Given the description of an element on the screen output the (x, y) to click on. 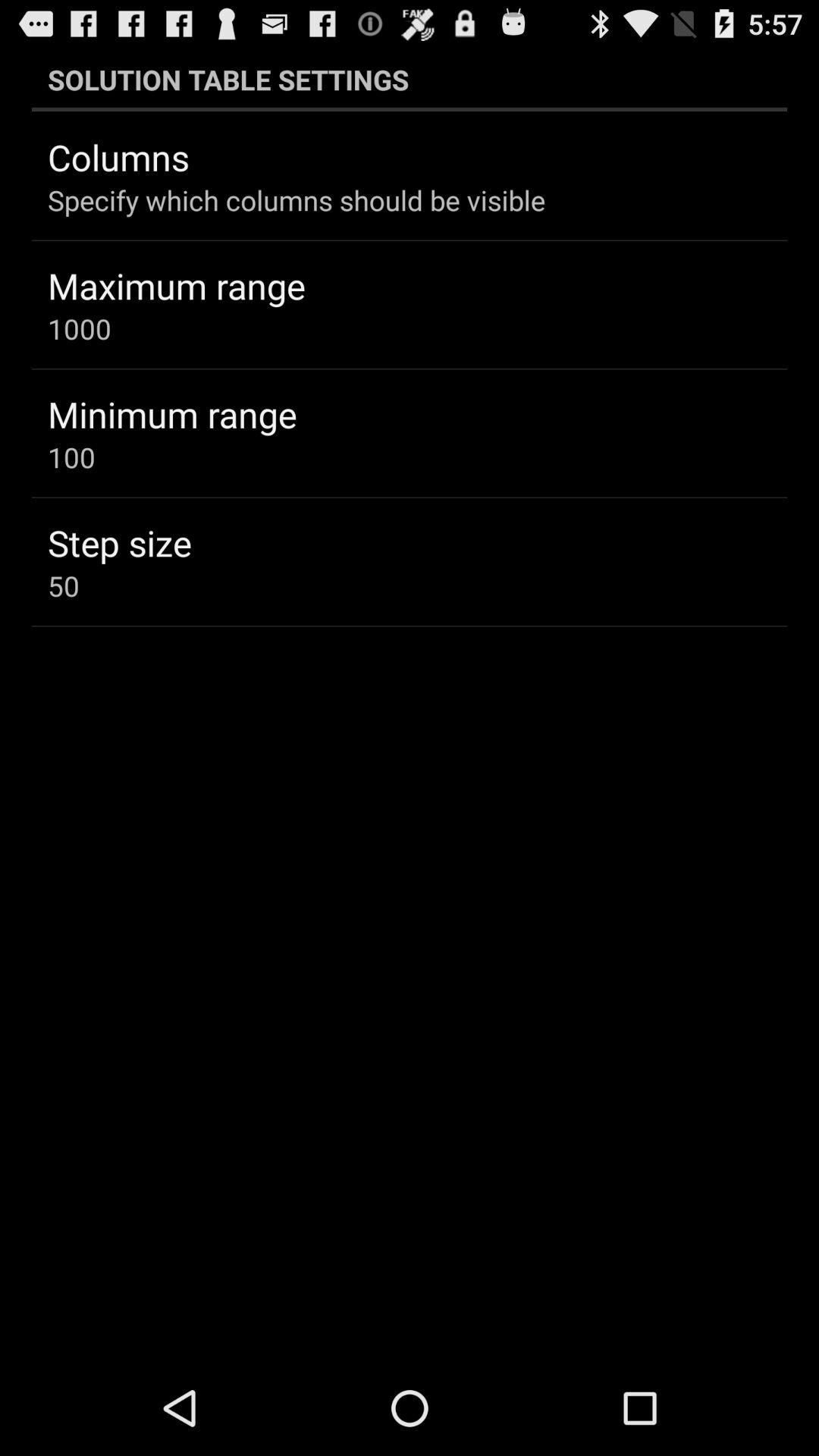
flip to step size icon (119, 542)
